Given the description of an element on the screen output the (x, y) to click on. 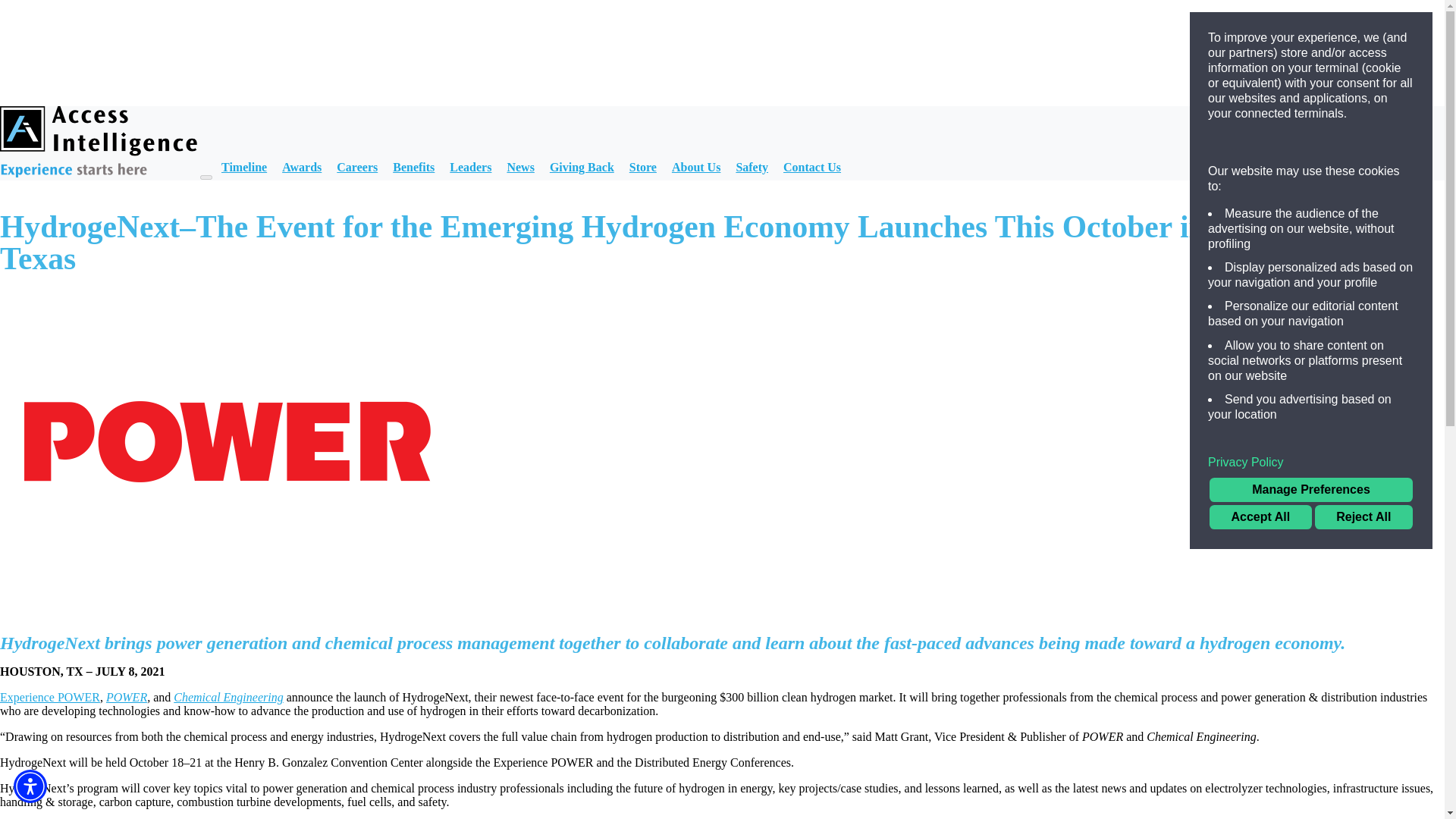
POWER (126, 697)
Chemical Engineering (227, 697)
Experience POWER (50, 697)
Giving Back (582, 166)
A Brief History of Access Intelligence (243, 166)
Timeline (243, 166)
Careers (356, 166)
Safety (751, 166)
Accept All (1260, 517)
Awards (301, 166)
Awards and Recognition (301, 166)
Leaders (470, 166)
Giving Back (582, 166)
Accessibility Menu (29, 786)
Benefits (413, 166)
